Given the description of an element on the screen output the (x, y) to click on. 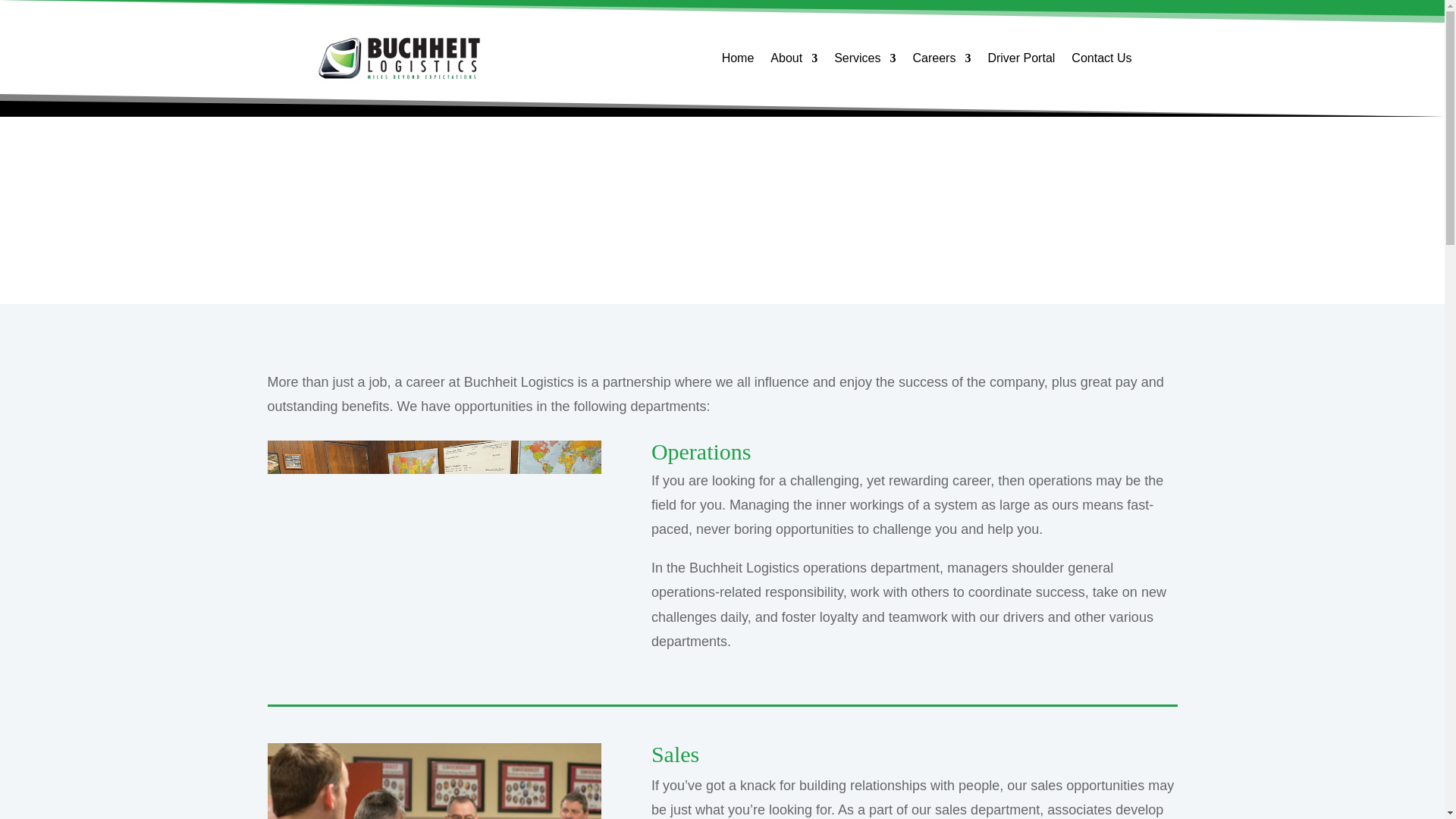
Contact Us (1101, 61)
Home (738, 61)
Services (864, 61)
Driver Portal (1020, 61)
Careers (941, 61)
About (793, 61)
Operations (432, 551)
